Given the description of an element on the screen output the (x, y) to click on. 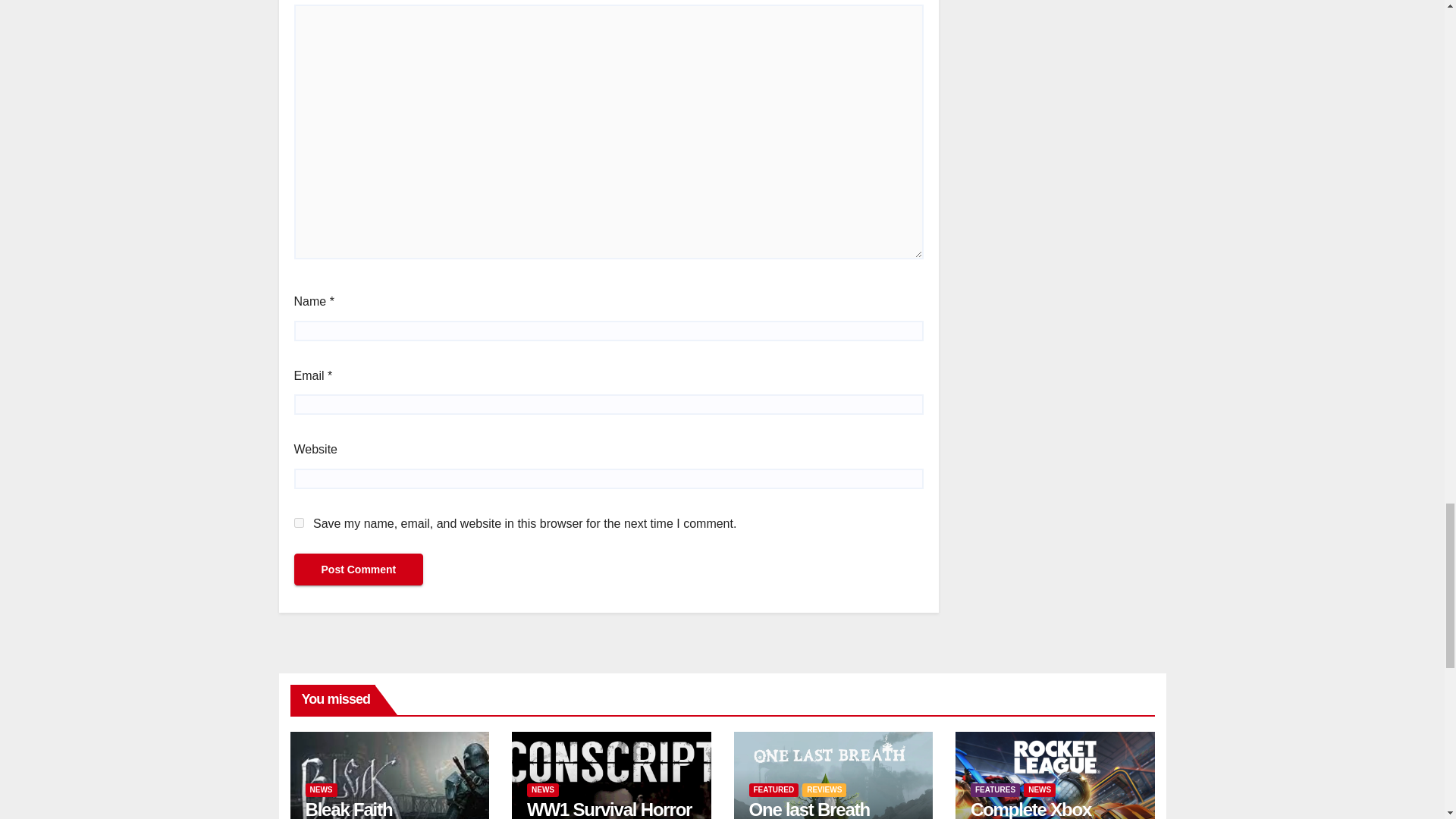
yes (299, 522)
Post Comment (358, 569)
